Given the description of an element on the screen output the (x, y) to click on. 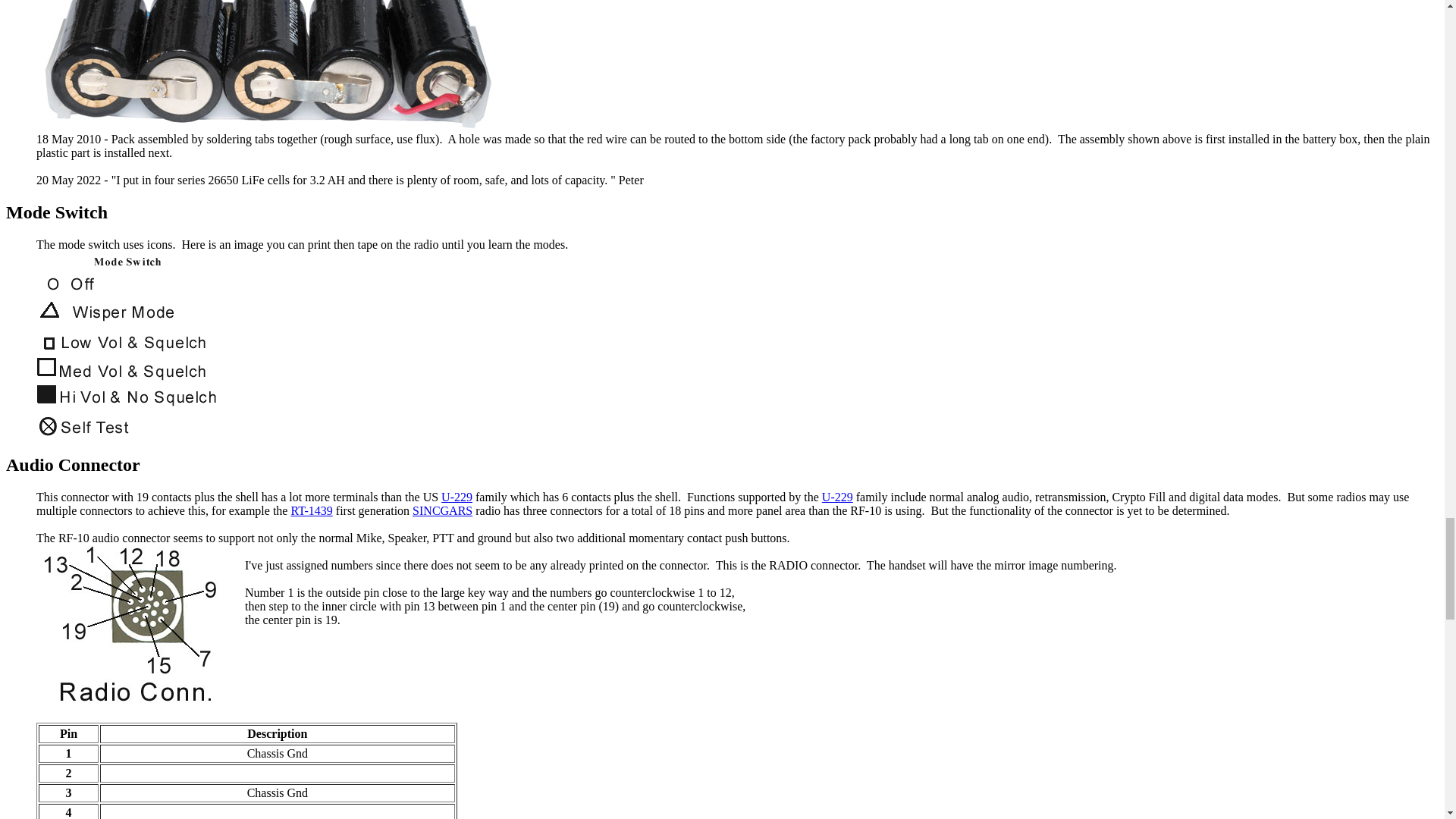
RT-1439 (310, 510)
SINCGARS (441, 510)
U-229 (456, 496)
U-229 (837, 496)
